Given the description of an element on the screen output the (x, y) to click on. 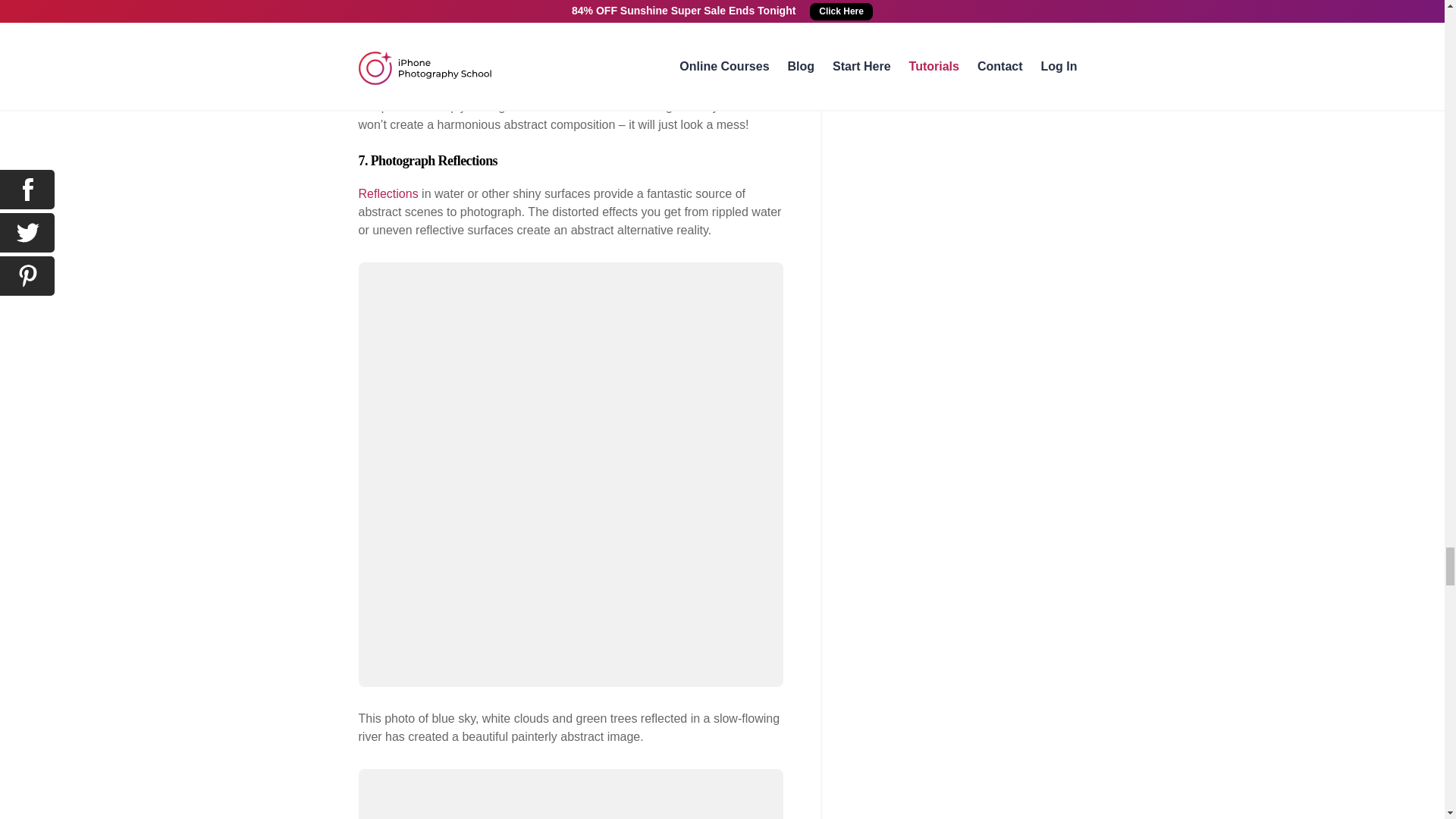
Reflections (387, 193)
10 Tips for Taking Stunning iPhone Reflection Photos (387, 193)
